Given the description of an element on the screen output the (x, y) to click on. 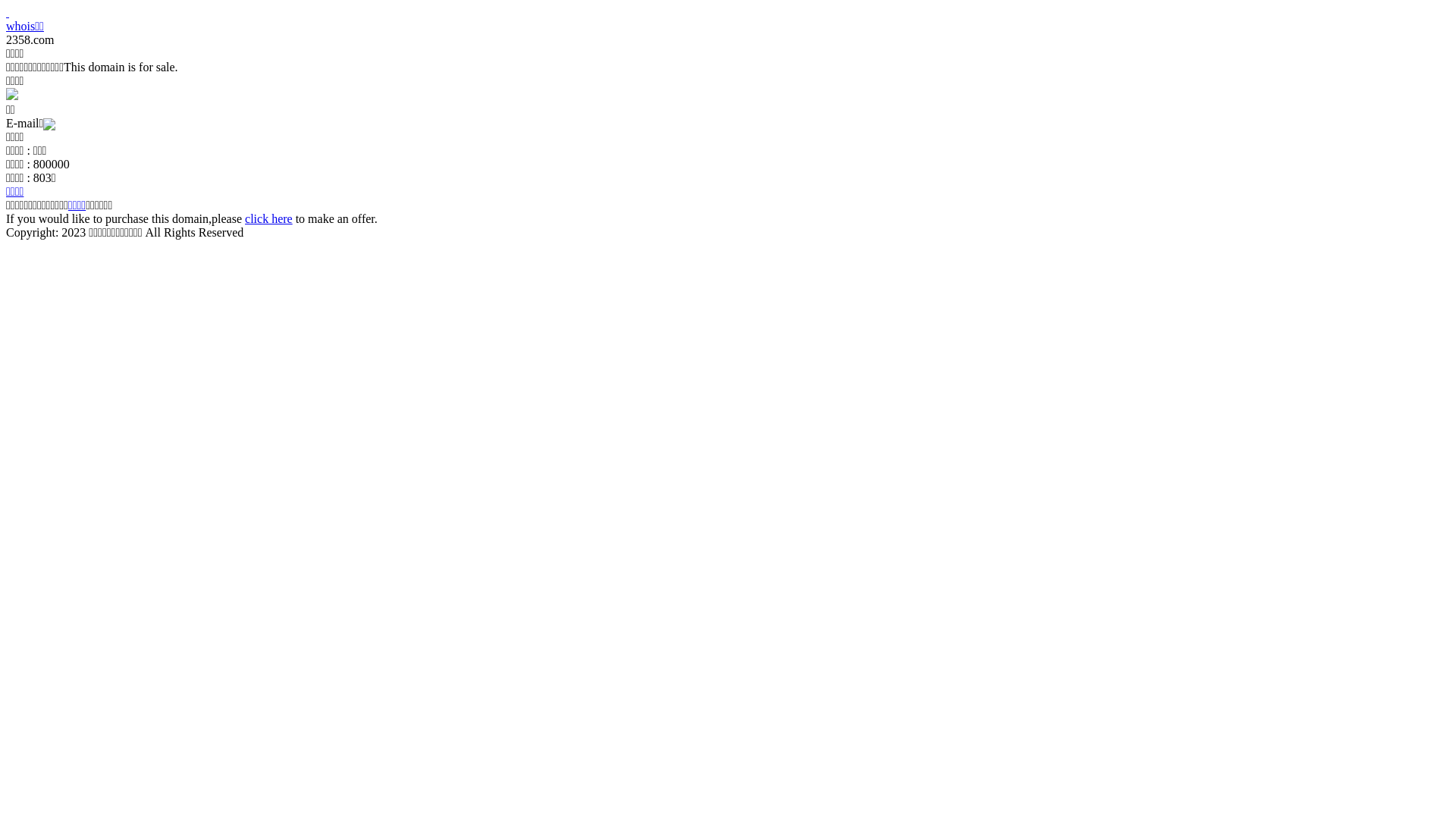
  Element type: text (7, 12)
click here Element type: text (268, 218)
